Given the description of an element on the screen output the (x, y) to click on. 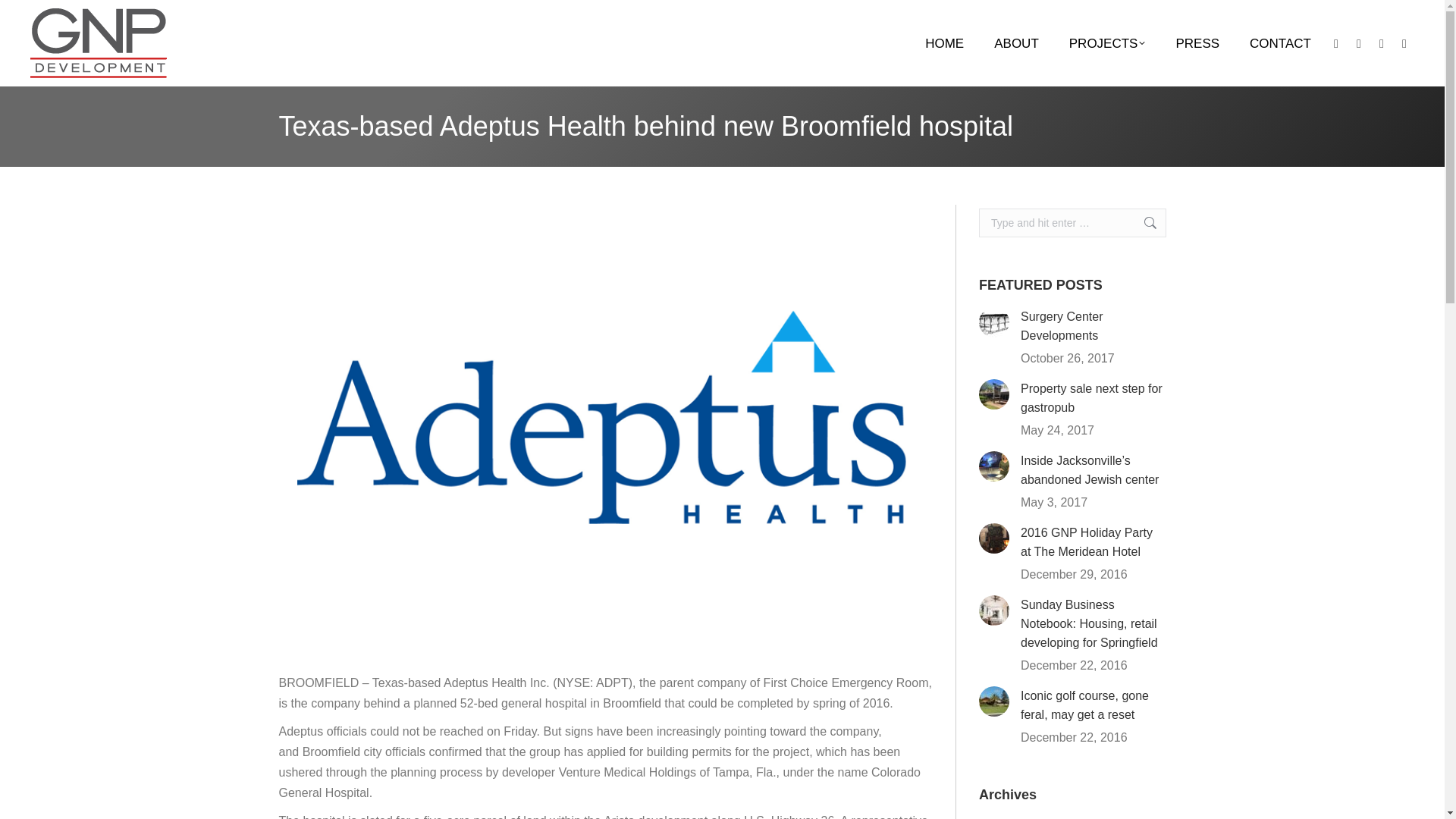
CONTACT (1280, 43)
Go! (1141, 222)
X page opens in new window (1381, 43)
Instagram page opens in new window (1358, 43)
Facebook page opens in new window (1335, 43)
Instagram page opens in new window (1358, 43)
PRESS (1197, 43)
X page opens in new window (1381, 43)
YouTube page opens in new window (1403, 43)
Go! (1141, 222)
HOME (944, 43)
YouTube page opens in new window (1403, 43)
Facebook page opens in new window (1335, 43)
ABOUT (1016, 43)
